Given the description of an element on the screen output the (x, y) to click on. 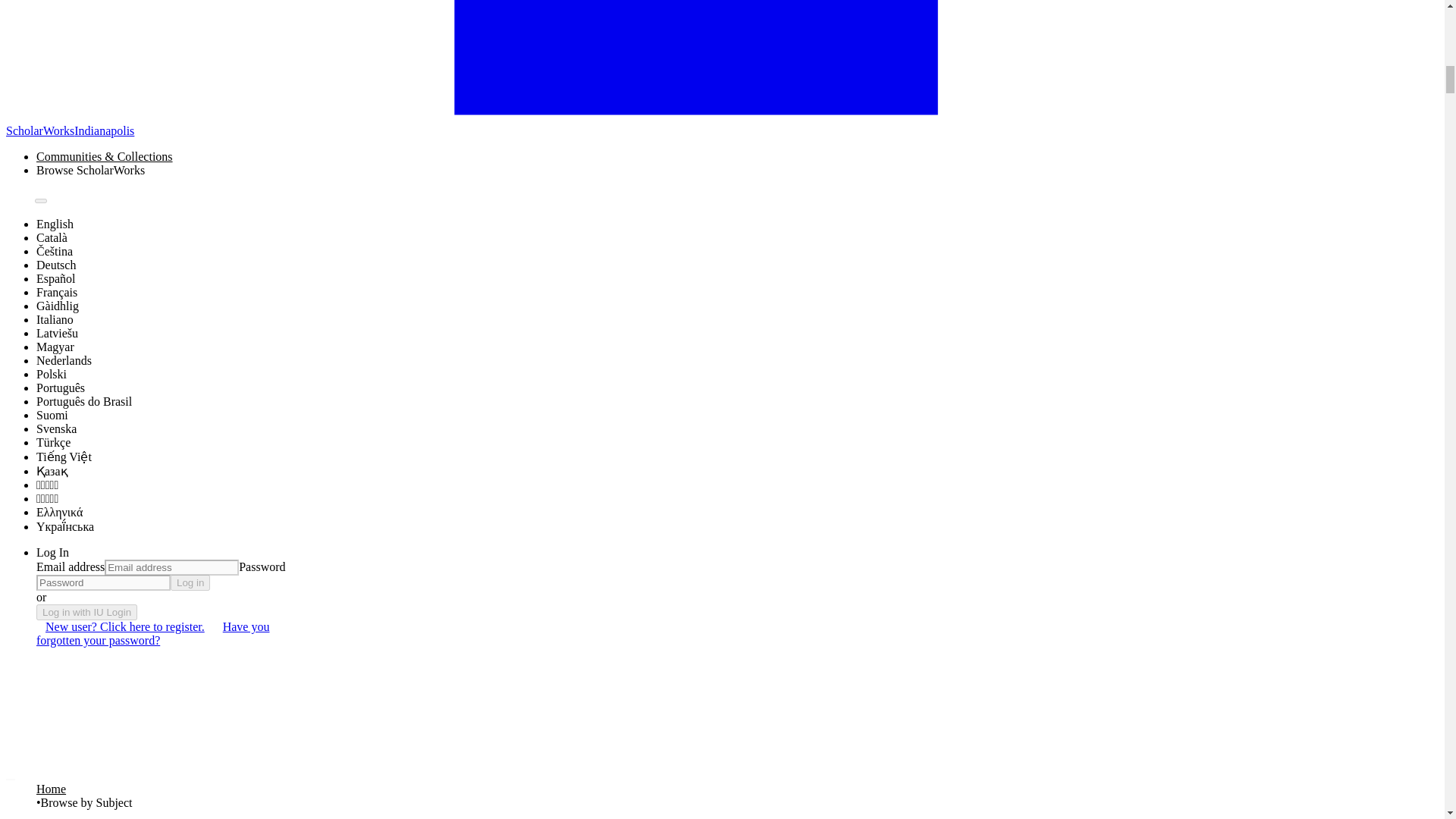
Log in (189, 582)
Log In (52, 552)
Have you forgotten your password? (152, 633)
New user? Click here to register. (125, 626)
Log in with IU Login (86, 611)
Browse ScholarWorks (104, 170)
Home (50, 789)
